Given the description of an element on the screen output the (x, y) to click on. 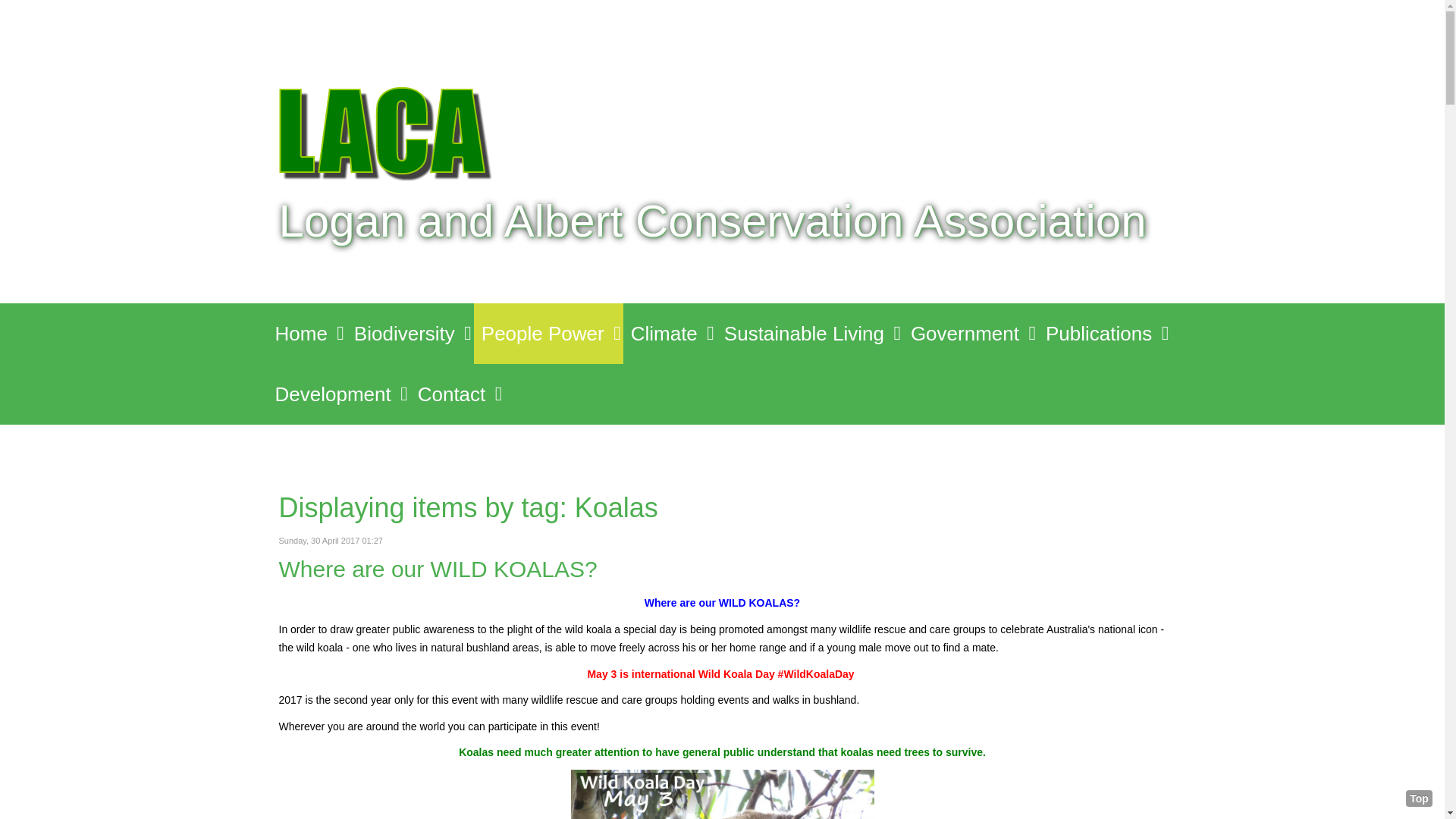
Government Element type: text (970, 333)
Development Element type: text (337, 394)
Climate Element type: text (669, 333)
Top Element type: text (1418, 798)
Publications Element type: text (1104, 333)
People Power Element type: text (548, 333)
Biodiversity Element type: text (409, 333)
Contact Element type: text (457, 394)
Where are our WILD KOALAS? Element type: text (438, 568)
Sustainable Living Element type: text (809, 333)
Home Element type: text (305, 333)
